Given the description of an element on the screen output the (x, y) to click on. 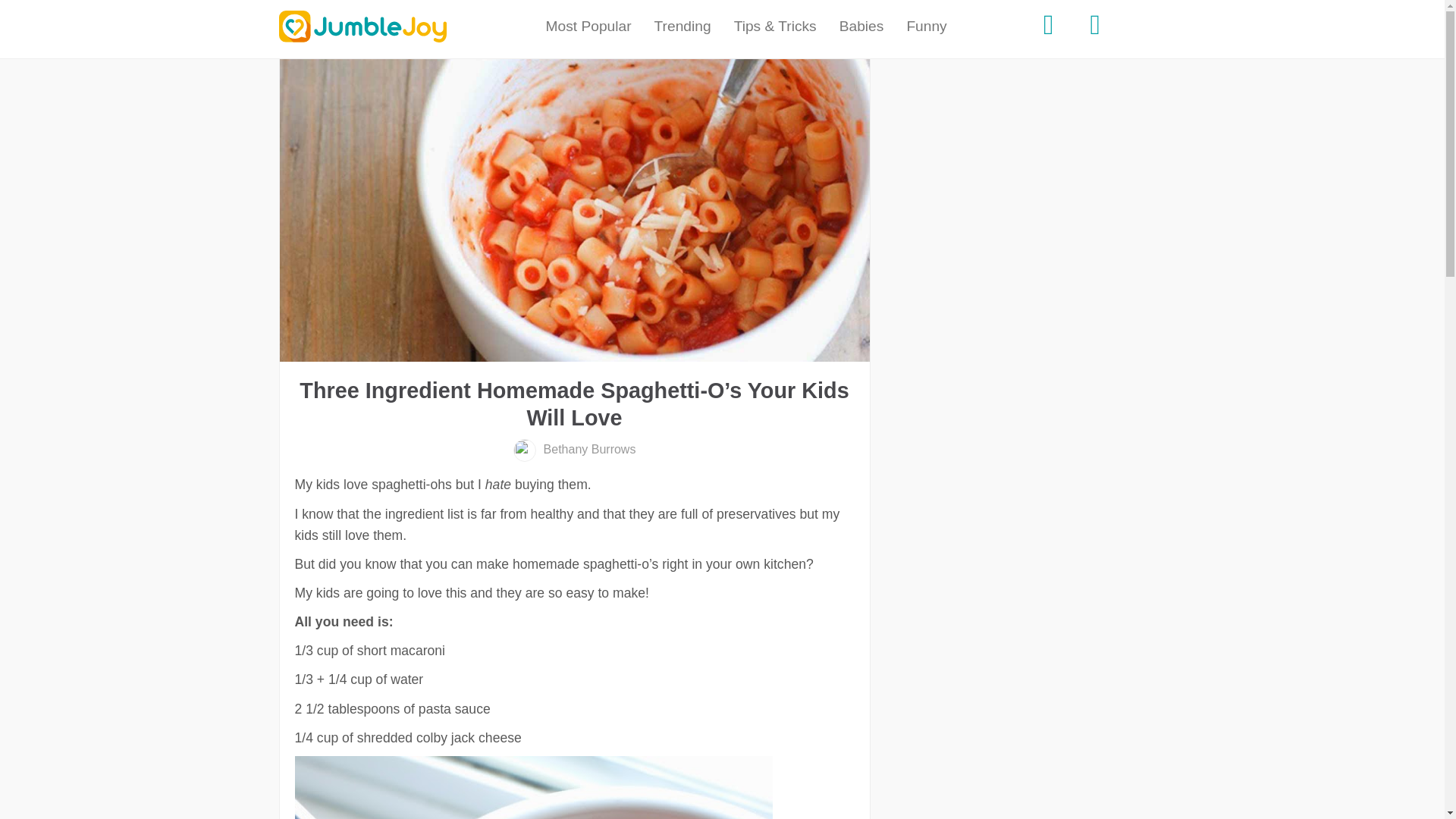
Funny (926, 26)
Babies (861, 26)
Most Popular (588, 26)
Trending (682, 26)
